Given the description of an element on the screen output the (x, y) to click on. 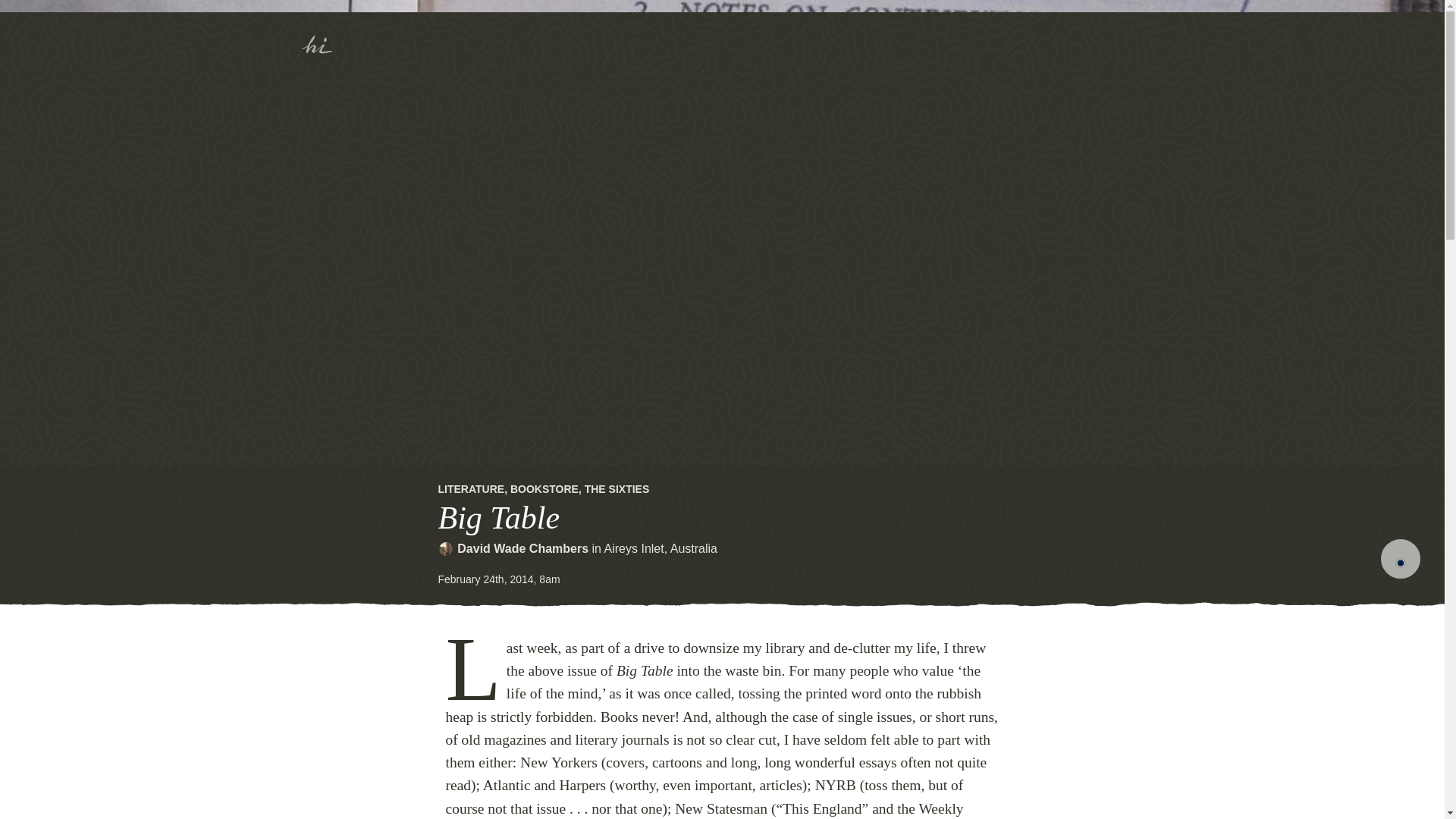
BOOKSTORE (544, 489)
THE SIXTIES (617, 489)
David Wade Chambers (522, 548)
Aireys Inlet, Australia (660, 548)
LITERATURE (471, 489)
